Given the description of an element on the screen output the (x, y) to click on. 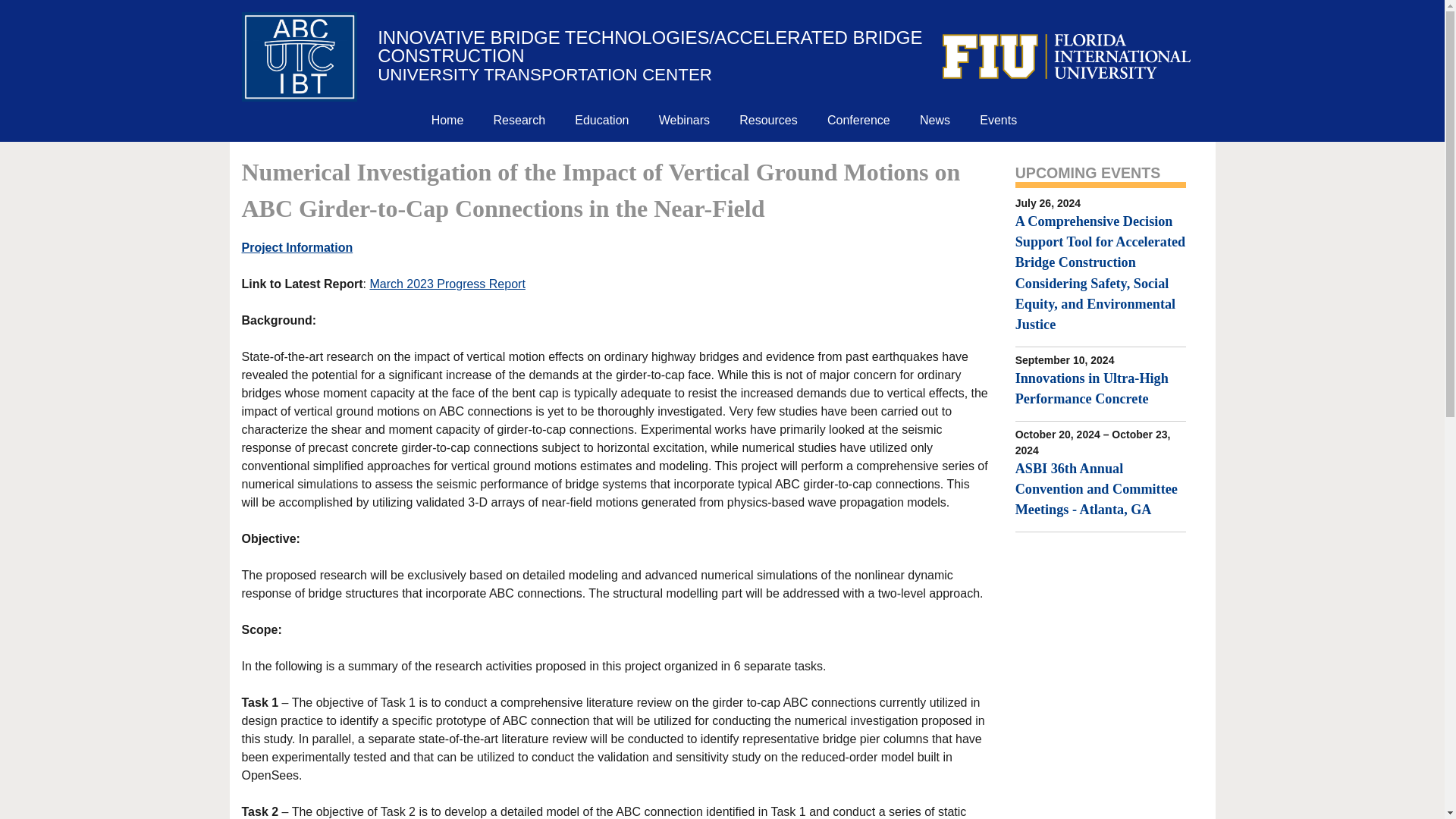
Webinars (683, 118)
Education (601, 118)
Research (518, 118)
Home (448, 118)
